Given the description of an element on the screen output the (x, y) to click on. 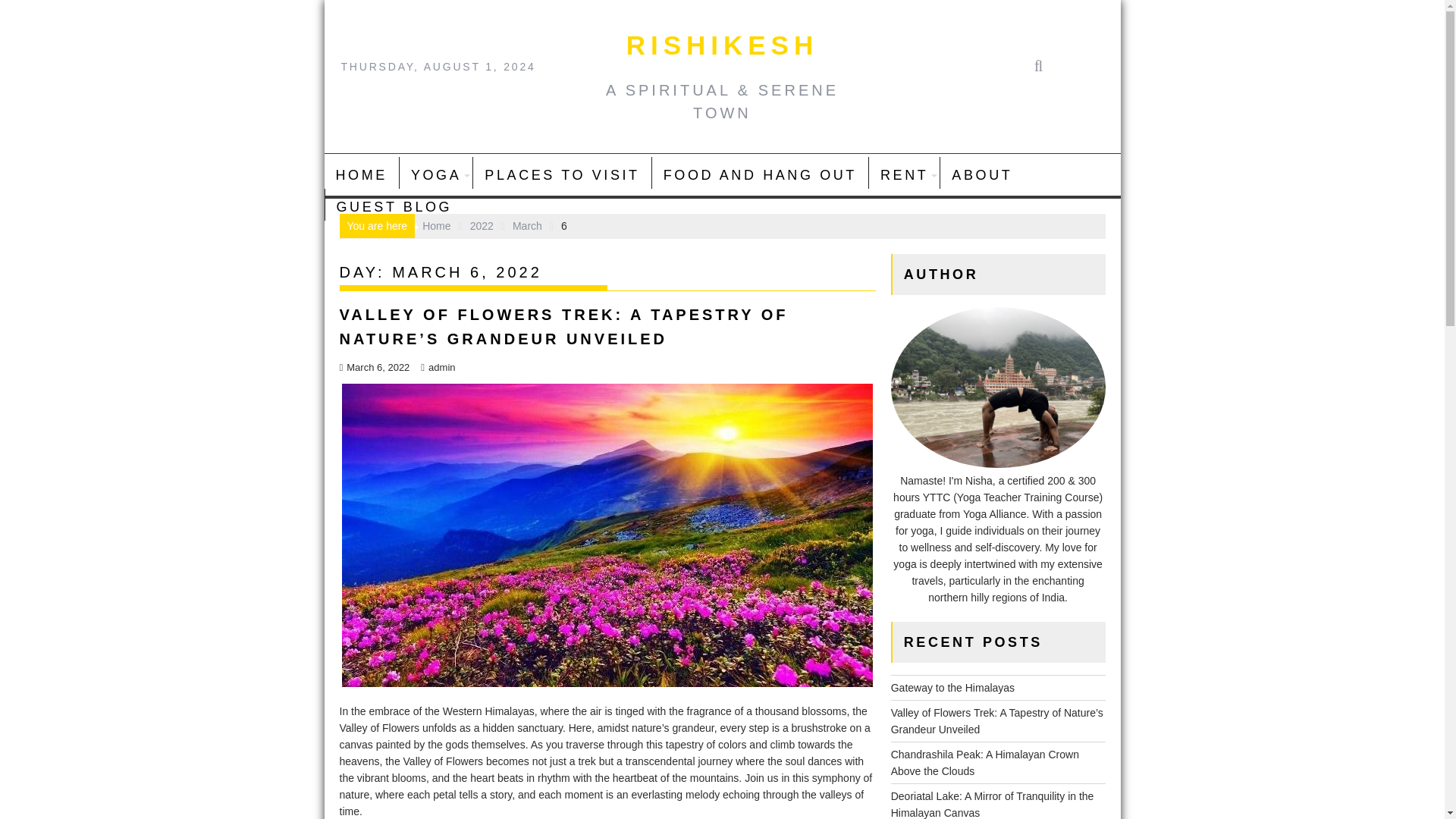
RISHIKESH (722, 44)
ABOUT (981, 175)
RENT (904, 175)
YOGA (434, 175)
admin (437, 367)
PLACES TO VISIT (561, 175)
Home (435, 225)
March 6, 2022 (374, 367)
GUEST BLOG (393, 207)
2022 (481, 225)
FOOD AND HANG OUT (759, 175)
HOME (361, 175)
March (526, 225)
